Given the description of an element on the screen output the (x, y) to click on. 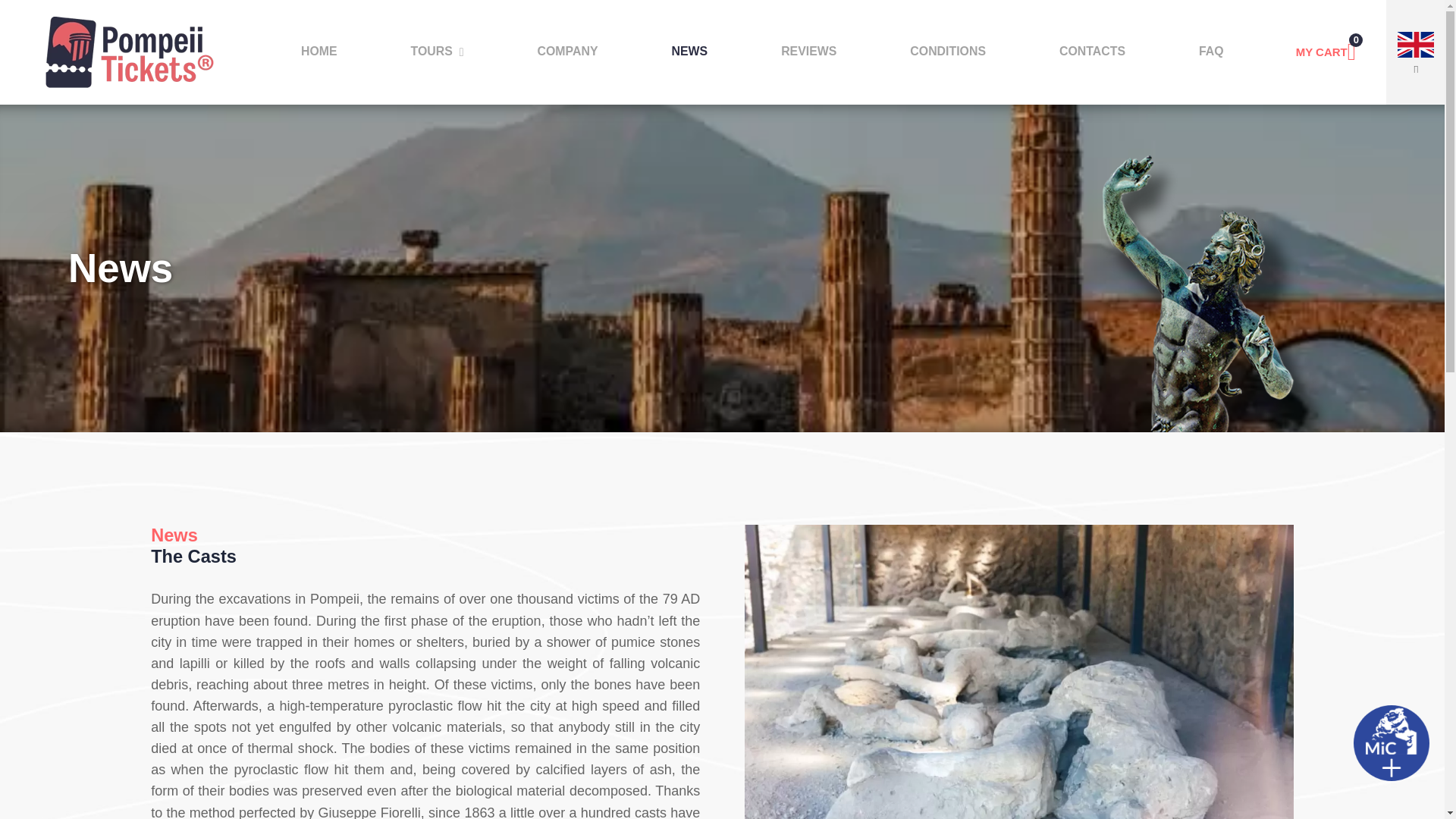
HOME (319, 51)
English (1416, 52)
REVIEWS (807, 51)
COMPANY (567, 51)
EN (1416, 52)
TOURS (437, 51)
Italiano (1416, 95)
NEWS (689, 51)
CONDITIONS (947, 51)
CONTACTS (1092, 51)
